Given the description of an element on the screen output the (x, y) to click on. 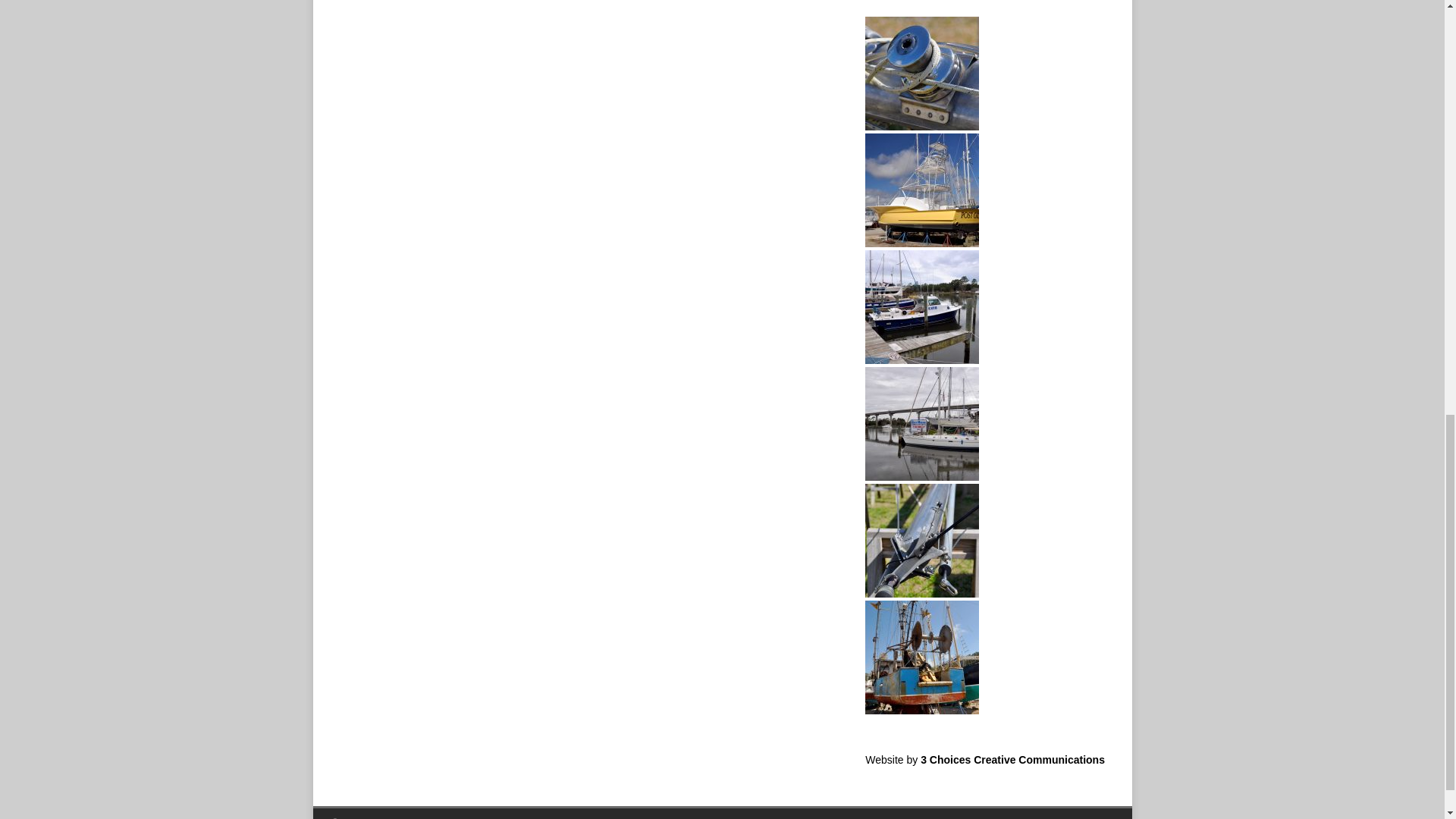
3 Choices Creative Communications (1012, 759)
